Given the description of an element on the screen output the (x, y) to click on. 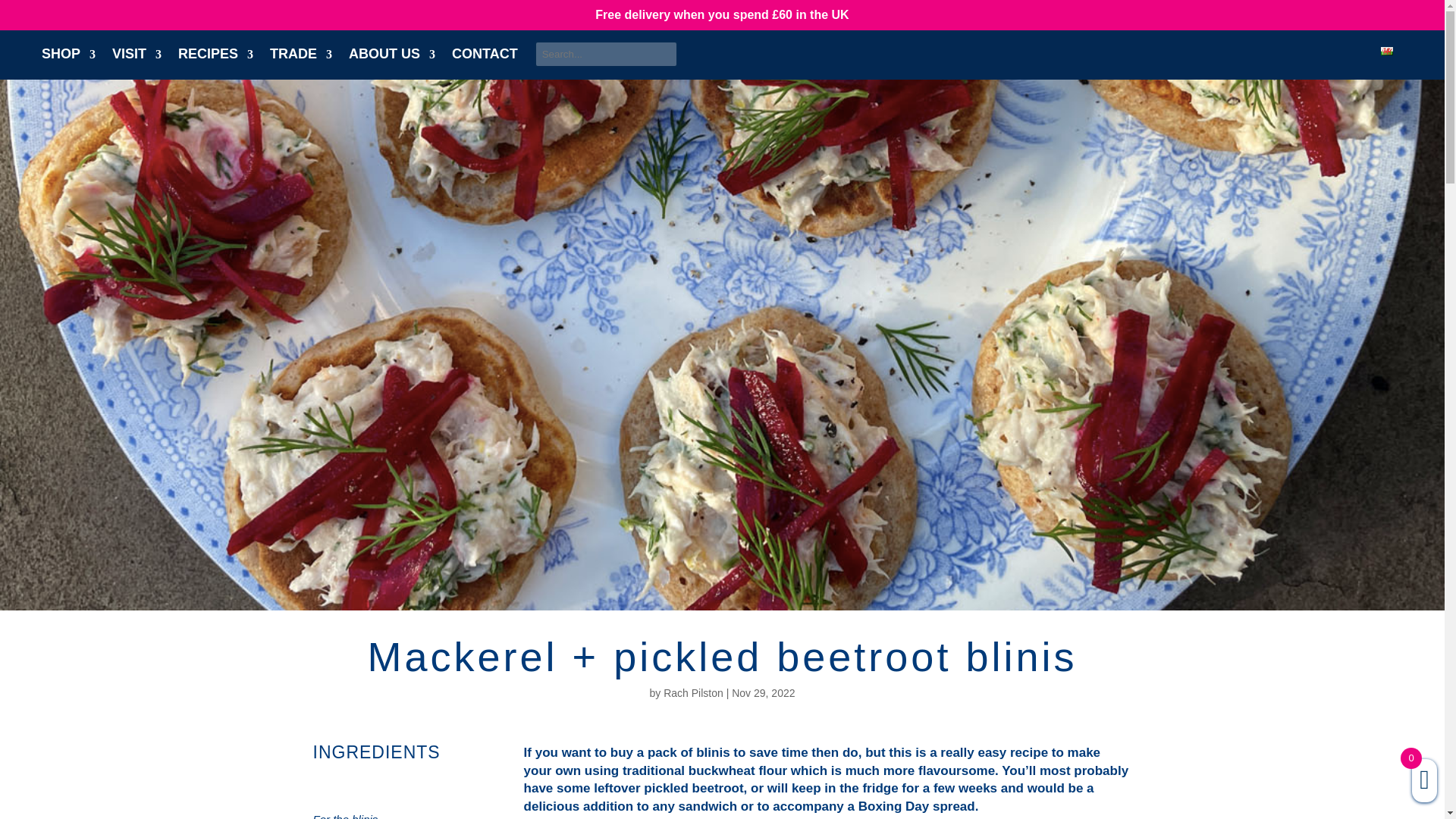
Posts by Rach Pilston (693, 693)
